Given the description of an element on the screen output the (x, y) to click on. 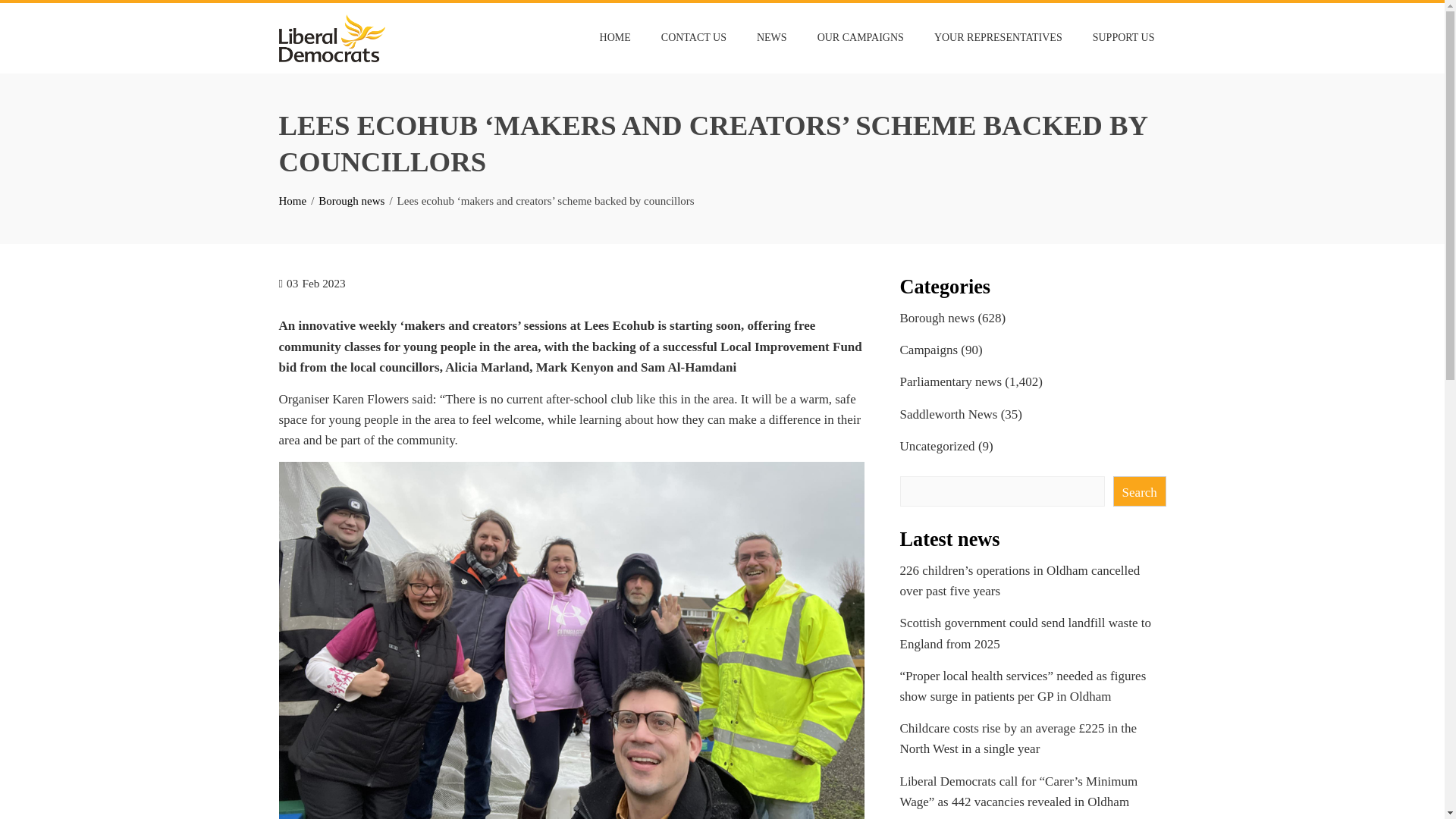
Campaigns (928, 350)
Uncategorized (936, 445)
Borough news (351, 200)
HOME (615, 37)
YOUR REPRESENTATIVES (998, 37)
Borough news (936, 318)
SUPPORT US (1123, 37)
OUR CAMPAIGNS (860, 37)
Saddleworth News (948, 414)
CONTACT US (693, 37)
